Given the description of an element on the screen output the (x, y) to click on. 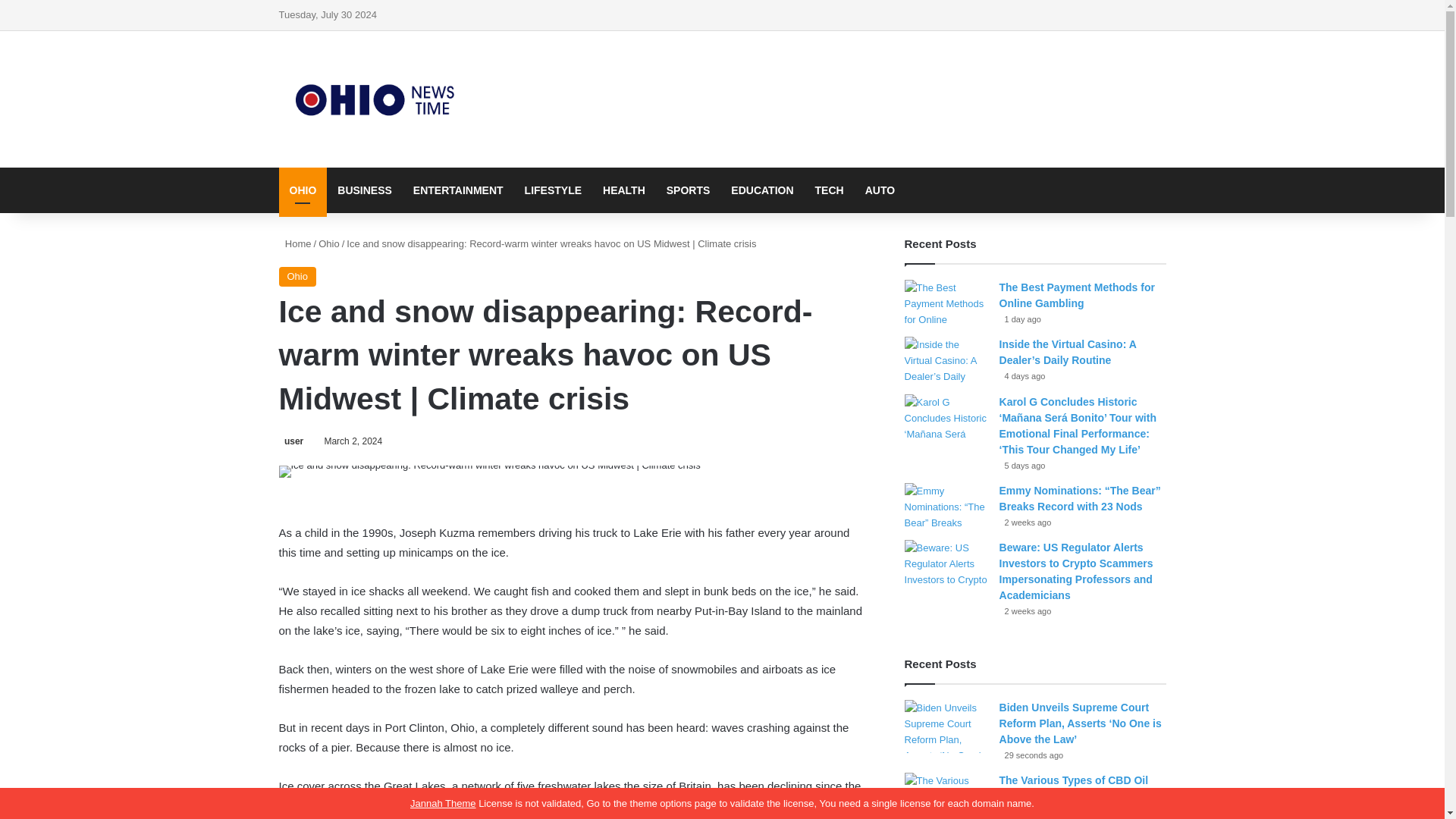
SPORTS (688, 189)
LIFESTYLE (552, 189)
Ohionewstime.com (377, 99)
Home (295, 243)
EDUCATION (761, 189)
user (291, 440)
TECH (829, 189)
Jannah Theme (443, 803)
user (291, 440)
Ohio (297, 276)
AUTO (879, 189)
Ohio (328, 243)
HEALTH (624, 189)
BUSINESS (364, 189)
ENTERTAINMENT (458, 189)
